Given the description of an element on the screen output the (x, y) to click on. 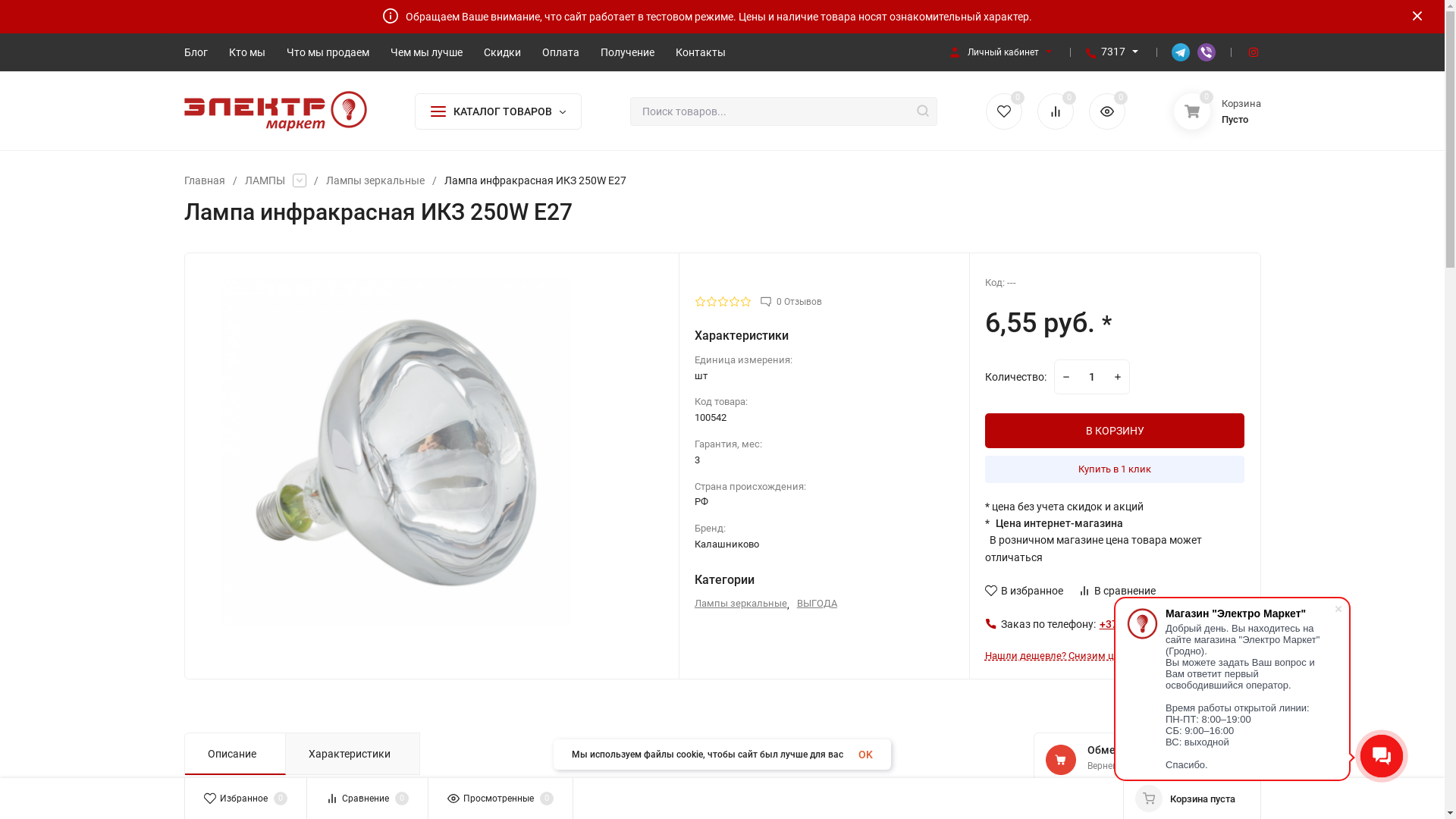
+375 (29) 700 7317 Element type: text (1143, 623)
OK Element type: text (865, 754)
0 Element type: text (1055, 111)
0 Element type: text (1003, 111)
0 Element type: text (1106, 111)
7317 Element type: text (1113, 51)
